Given the description of an element on the screen output the (x, y) to click on. 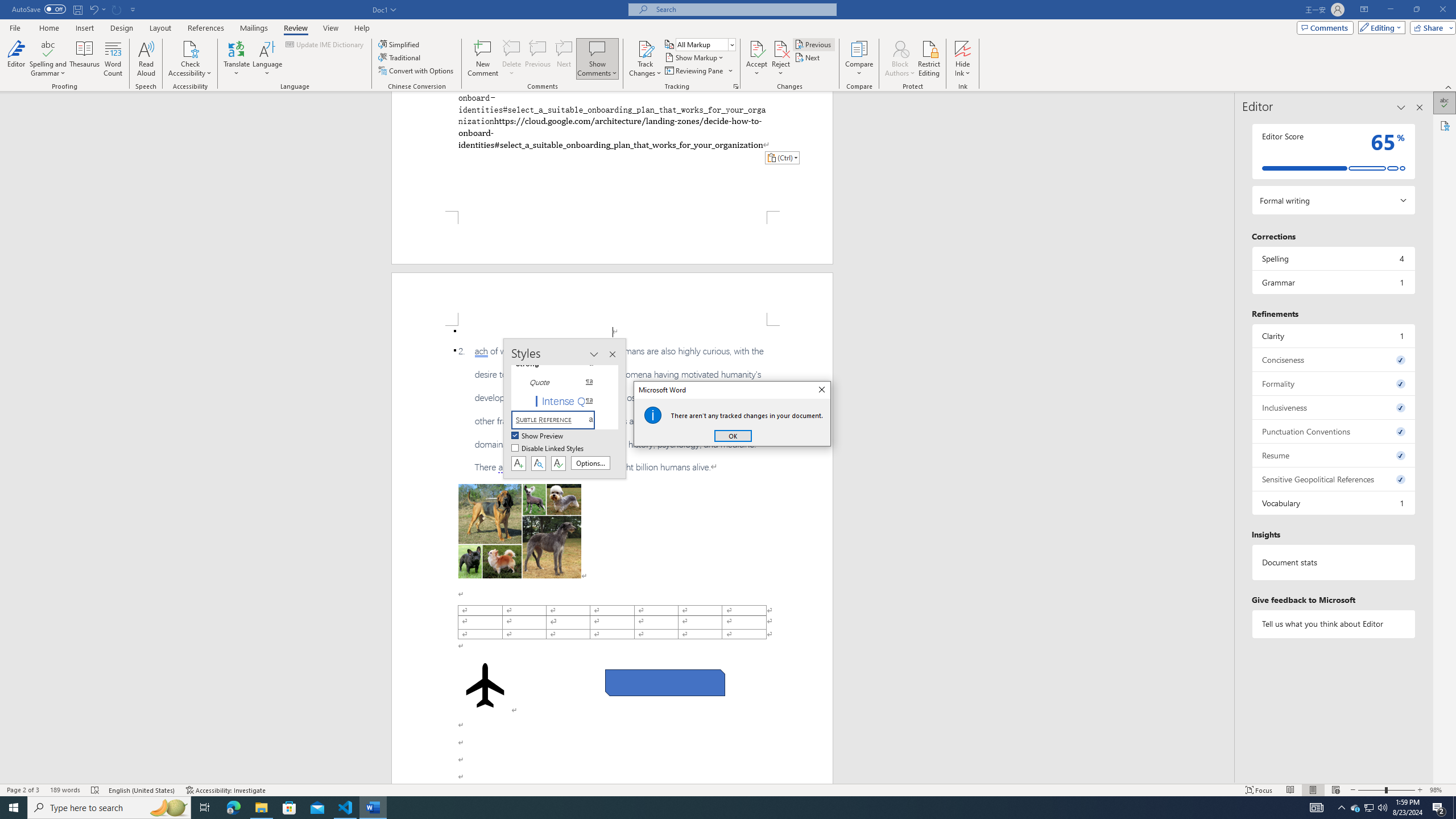
Translate (236, 58)
Read Aloud (145, 58)
Tell us what you think about Editor (1333, 624)
Class: NetUIButton (558, 463)
Accessibility (1444, 125)
Microsoft Edge (233, 807)
Spelling and Grammar Check Errors (94, 790)
Search highlights icon opens search home window (167, 807)
Delete (511, 48)
